Given the description of an element on the screen output the (x, y) to click on. 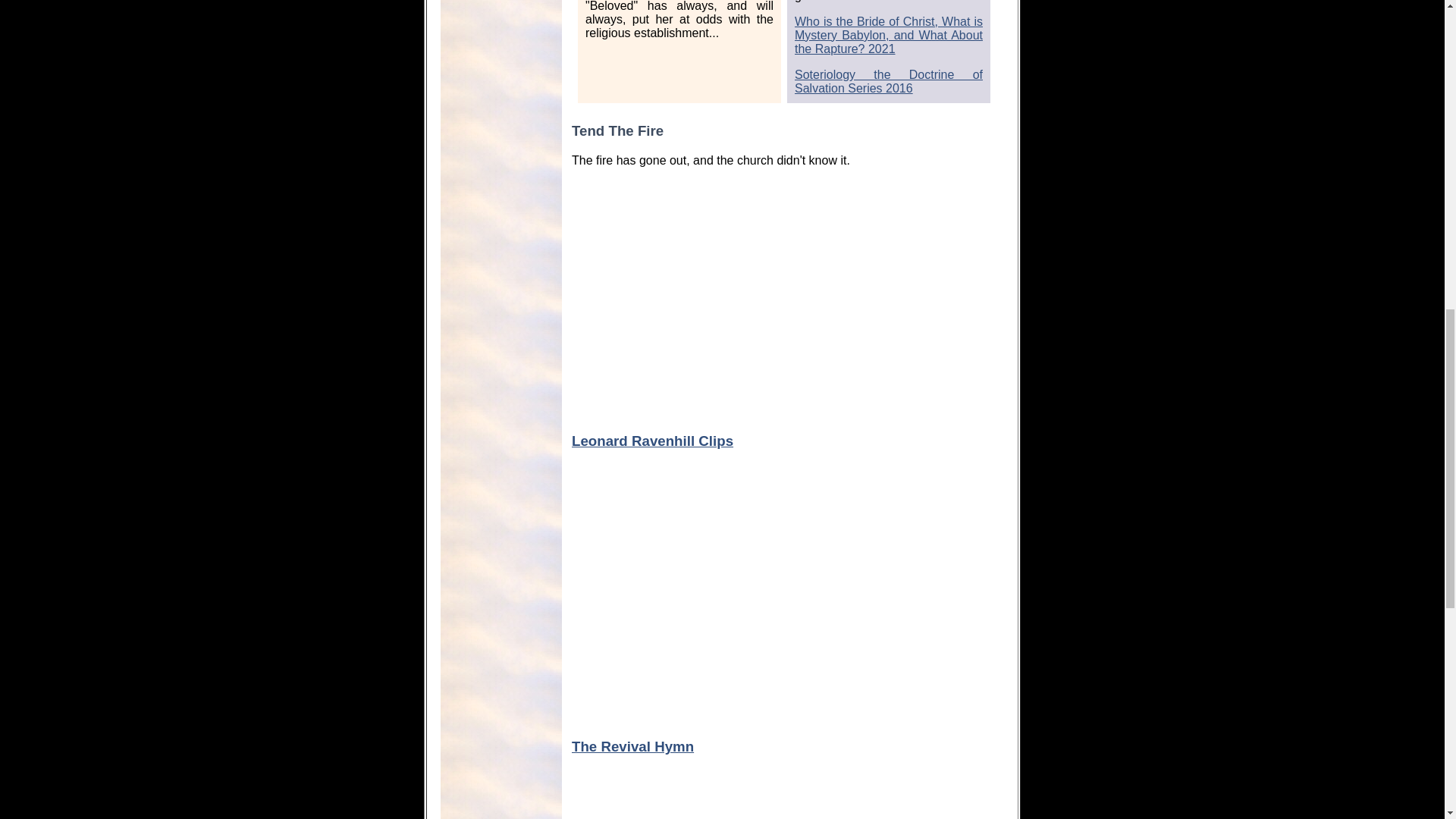
Leonard Ravenhill Clips (652, 440)
The Revival Hymn (633, 746)
Soteriology the Doctrine of Salvation Series 2016 (888, 81)
